Given the description of an element on the screen output the (x, y) to click on. 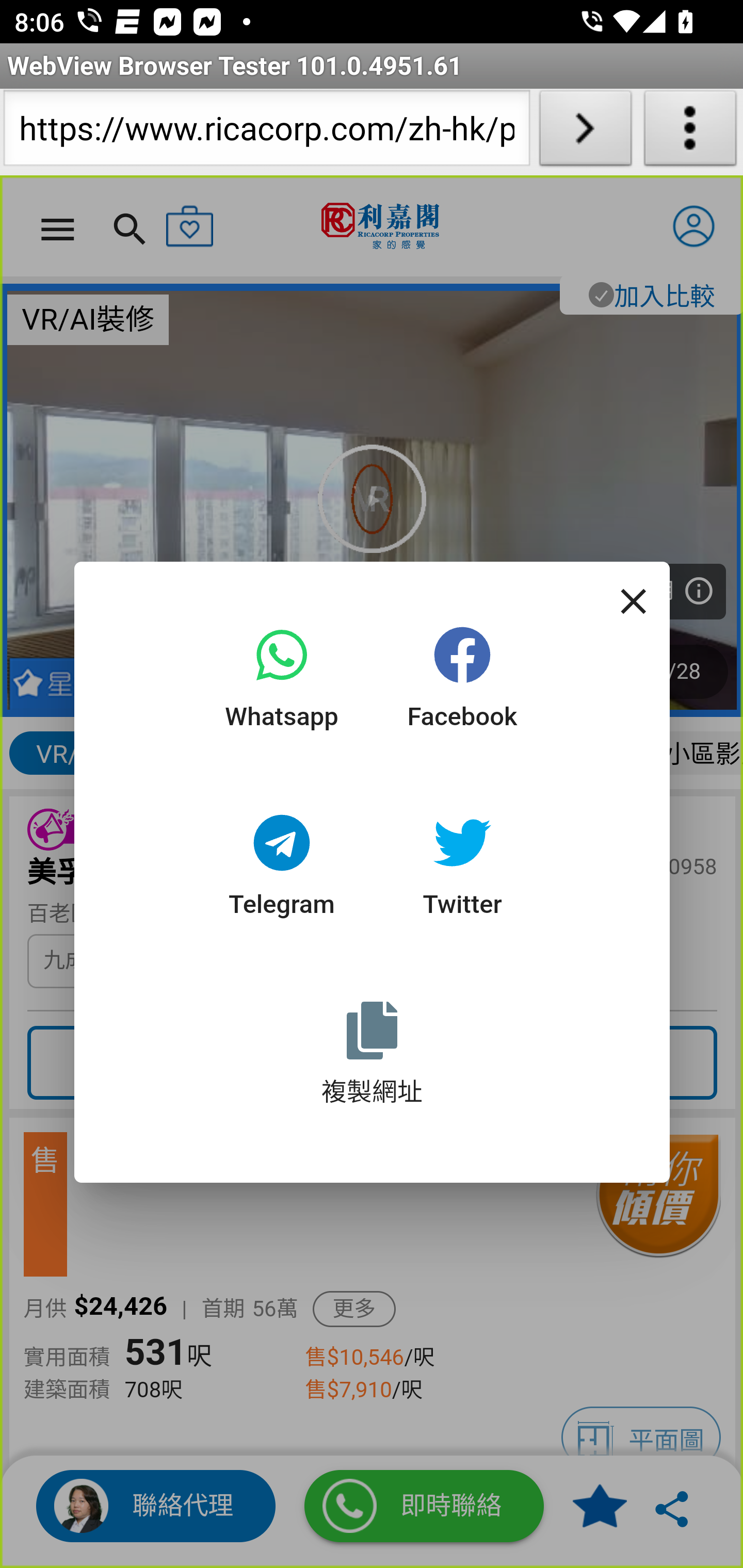
Load URL (585, 132)
About WebView (690, 132)
Share on WhatsApp (282, 684)
Share on Facebook (462, 684)
Share on Telegram (282, 872)
Share on Twitter (462, 872)
Copy link (371, 1059)
